Given the description of an element on the screen output the (x, y) to click on. 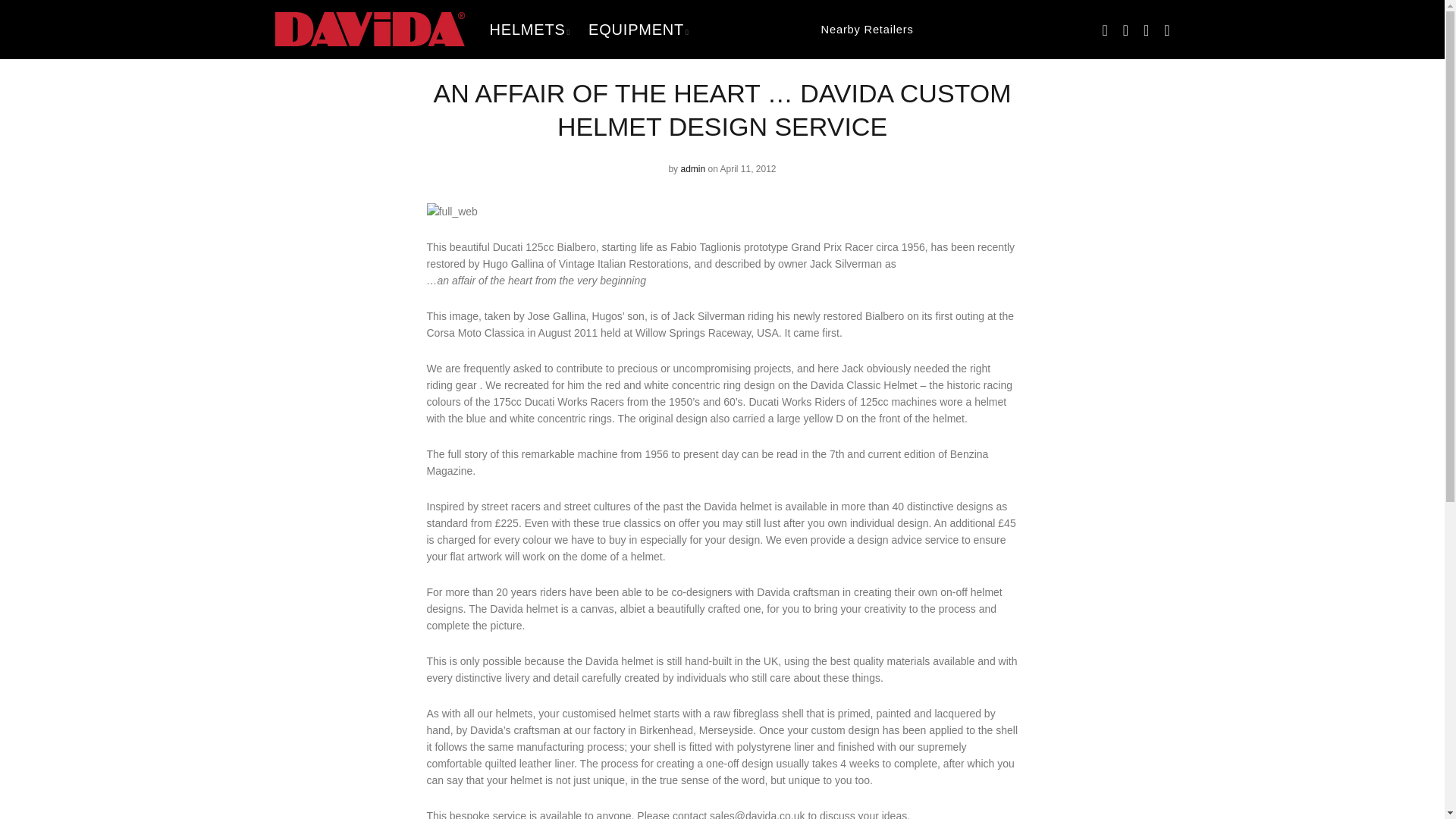
Nearby Retailers (806, 29)
EQUIPMENT (638, 29)
HELMETS (529, 29)
